Given the description of an element on the screen output the (x, y) to click on. 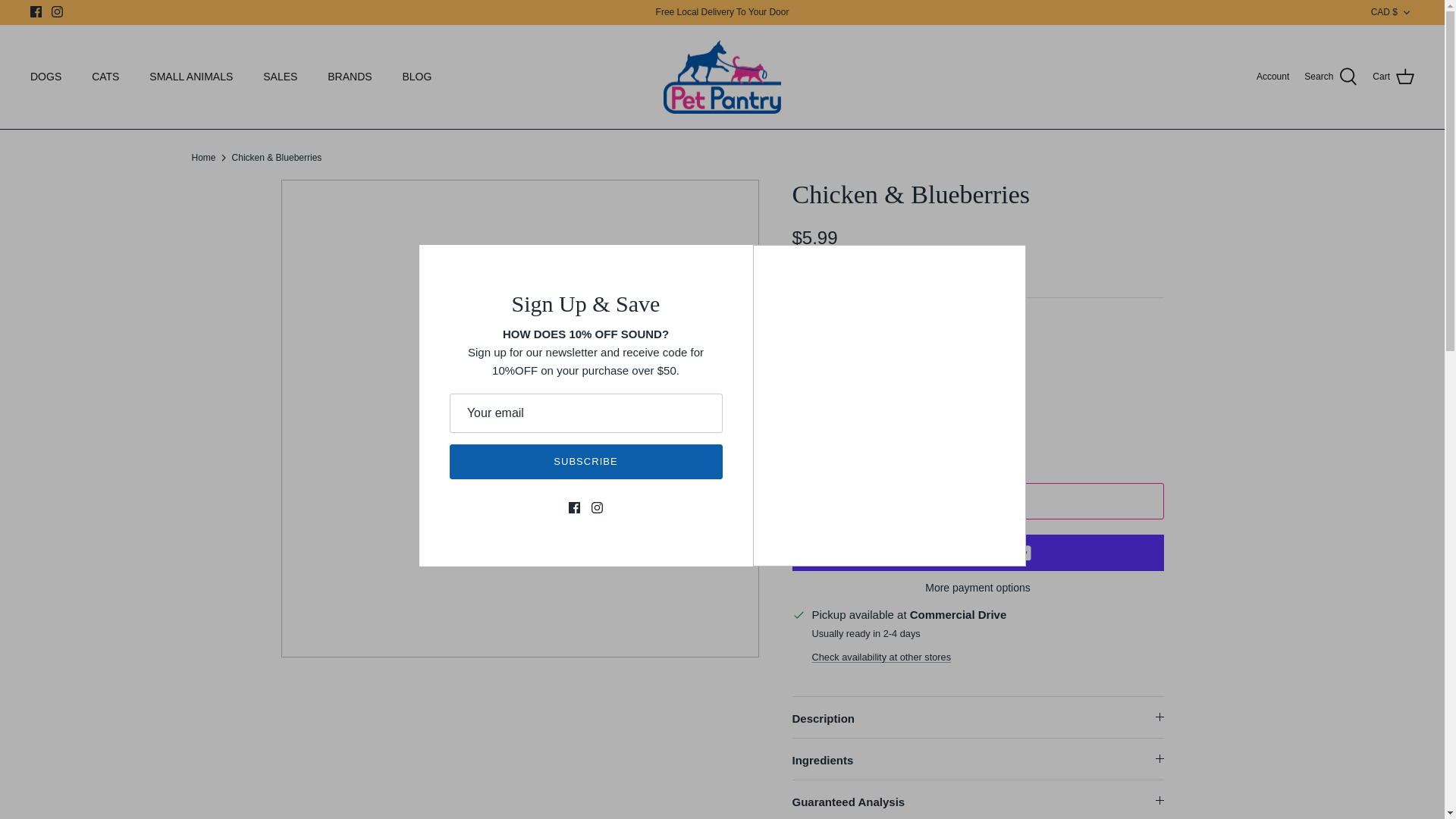
1 (853, 434)
SMALL ANIMALS (190, 76)
Search (1330, 76)
Cart (1393, 76)
CATS (105, 76)
PET PANTRY CANADA (721, 77)
Plus (897, 434)
Facebook (36, 11)
Instagram (56, 11)
Minus (809, 434)
SALES (279, 76)
DOGS (45, 76)
Instagram (56, 11)
Down (1406, 12)
BLOG (416, 76)
